Given the description of an element on the screen output the (x, y) to click on. 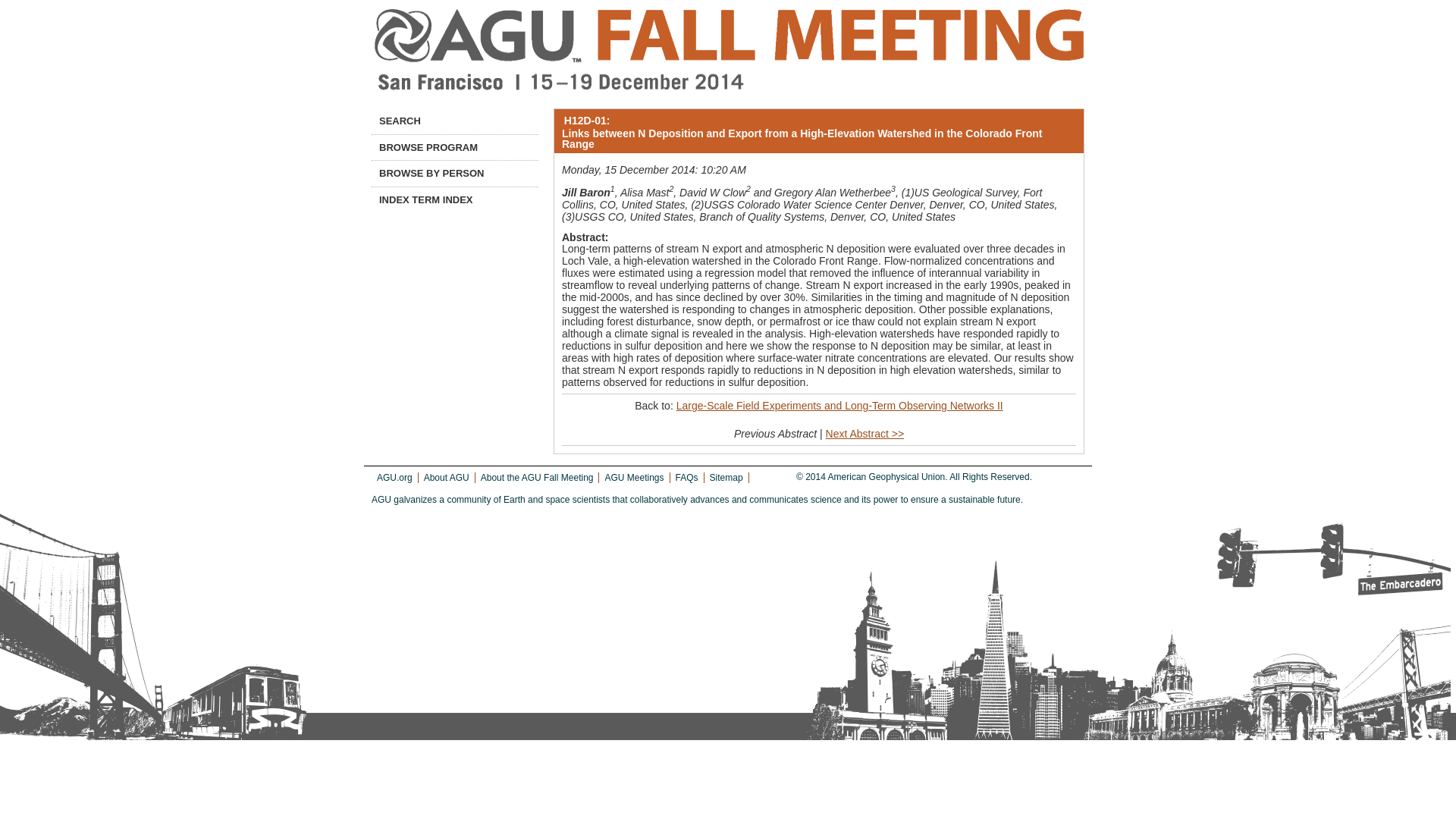
INDEX TERM INDEX (454, 199)
FAQs (686, 477)
About the AGU Fall Meeting (537, 477)
Sitemap (726, 477)
AGU Meetings (633, 477)
BROWSE BY PERSON (454, 173)
AGU.org (394, 477)
BROWSE PROGRAM (454, 147)
About AGU (445, 477)
